Given the description of an element on the screen output the (x, y) to click on. 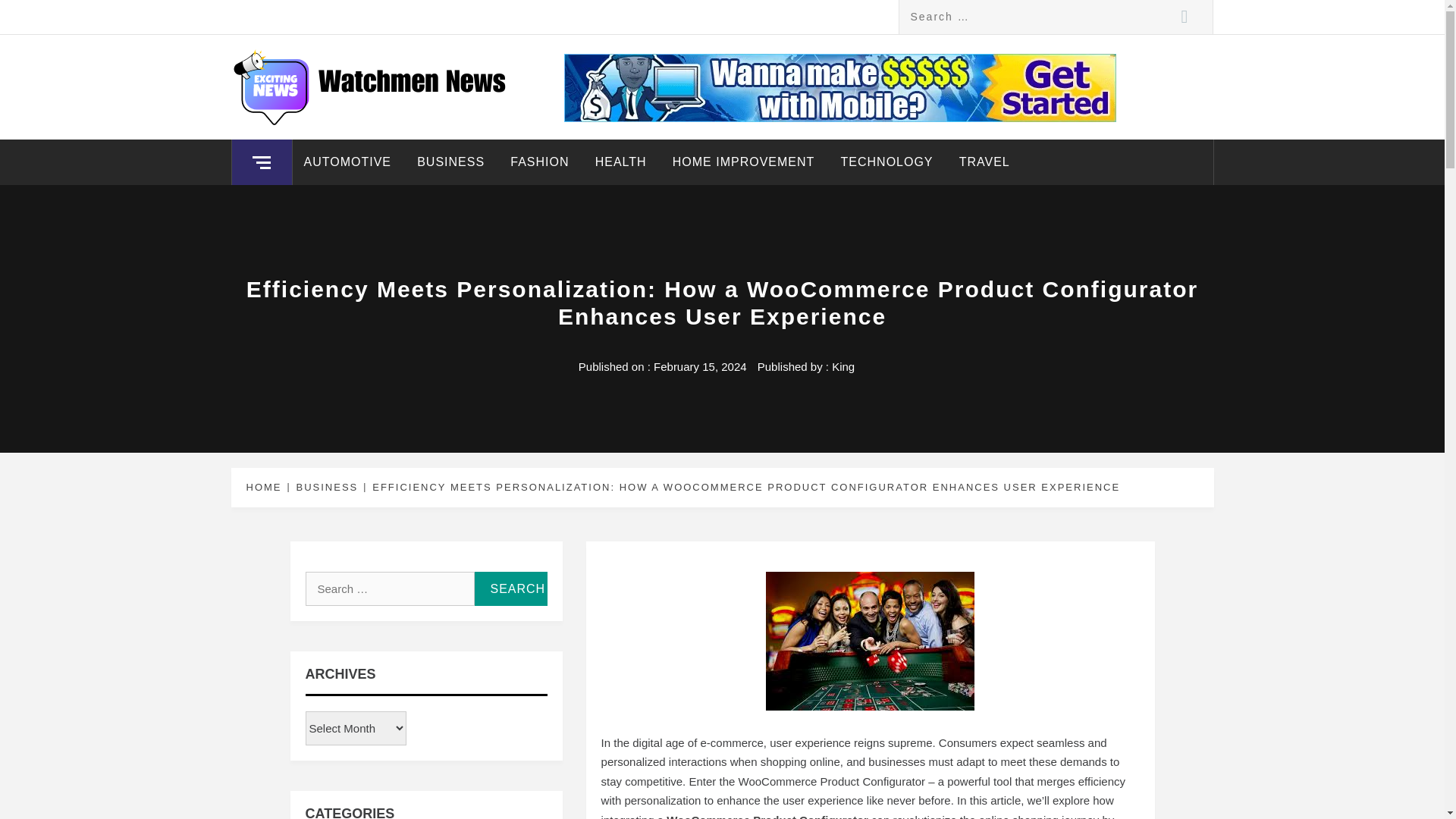
HOME (266, 487)
AUTOMOTIVE (347, 162)
Search (1184, 17)
Search (510, 588)
Search (510, 588)
FASHION (539, 162)
BUSINESS (451, 162)
HEALTH (620, 162)
TECHNOLOGY (886, 162)
King (842, 366)
